Given the description of an element on the screen output the (x, y) to click on. 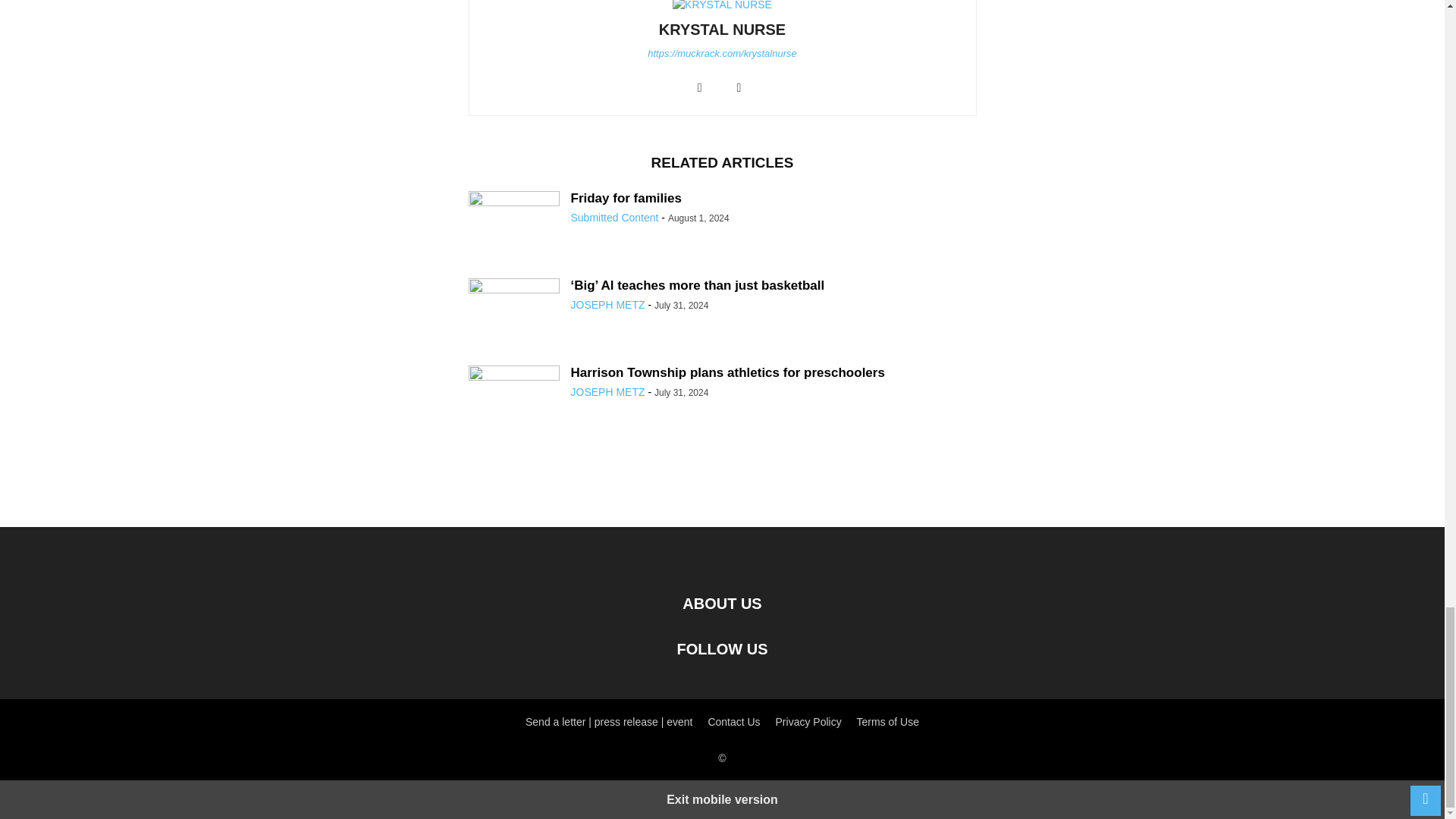
KRYSTAL NURSE (722, 29)
Friday for families (625, 197)
Friday for families (513, 220)
Friday for families (625, 197)
Harrison Township plans athletics for preschoolers (726, 372)
Contact Us (733, 721)
Linkedin (699, 87)
Submitted Content (614, 217)
JOSEPH METZ (607, 391)
Twitter (738, 87)
JOSEPH METZ (607, 304)
